Given the description of an element on the screen output the (x, y) to click on. 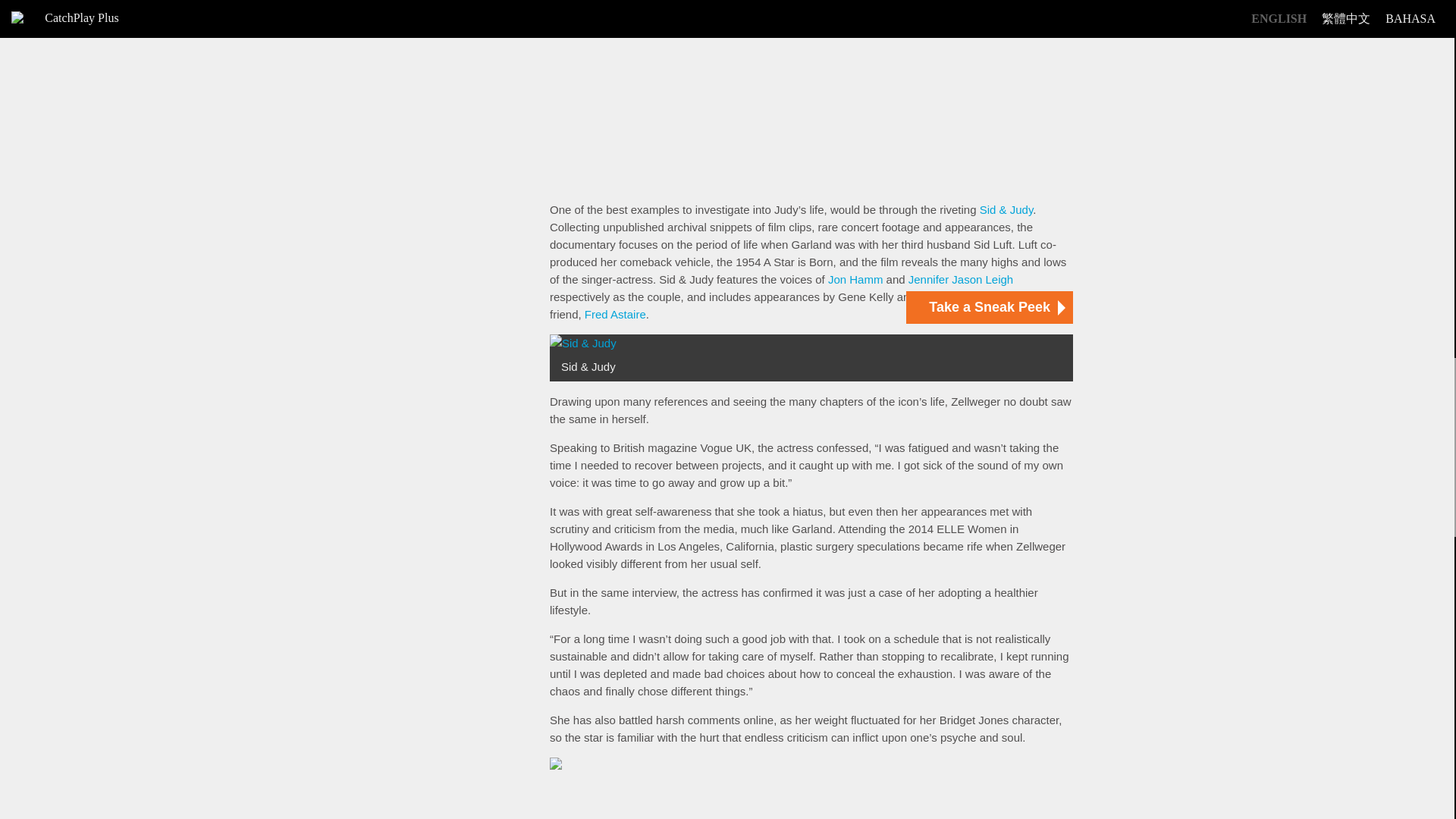
Fred Astaire (615, 314)
Jennifer Jason Leigh (960, 278)
Jon Hamm (855, 278)
